Given the description of an element on the screen output the (x, y) to click on. 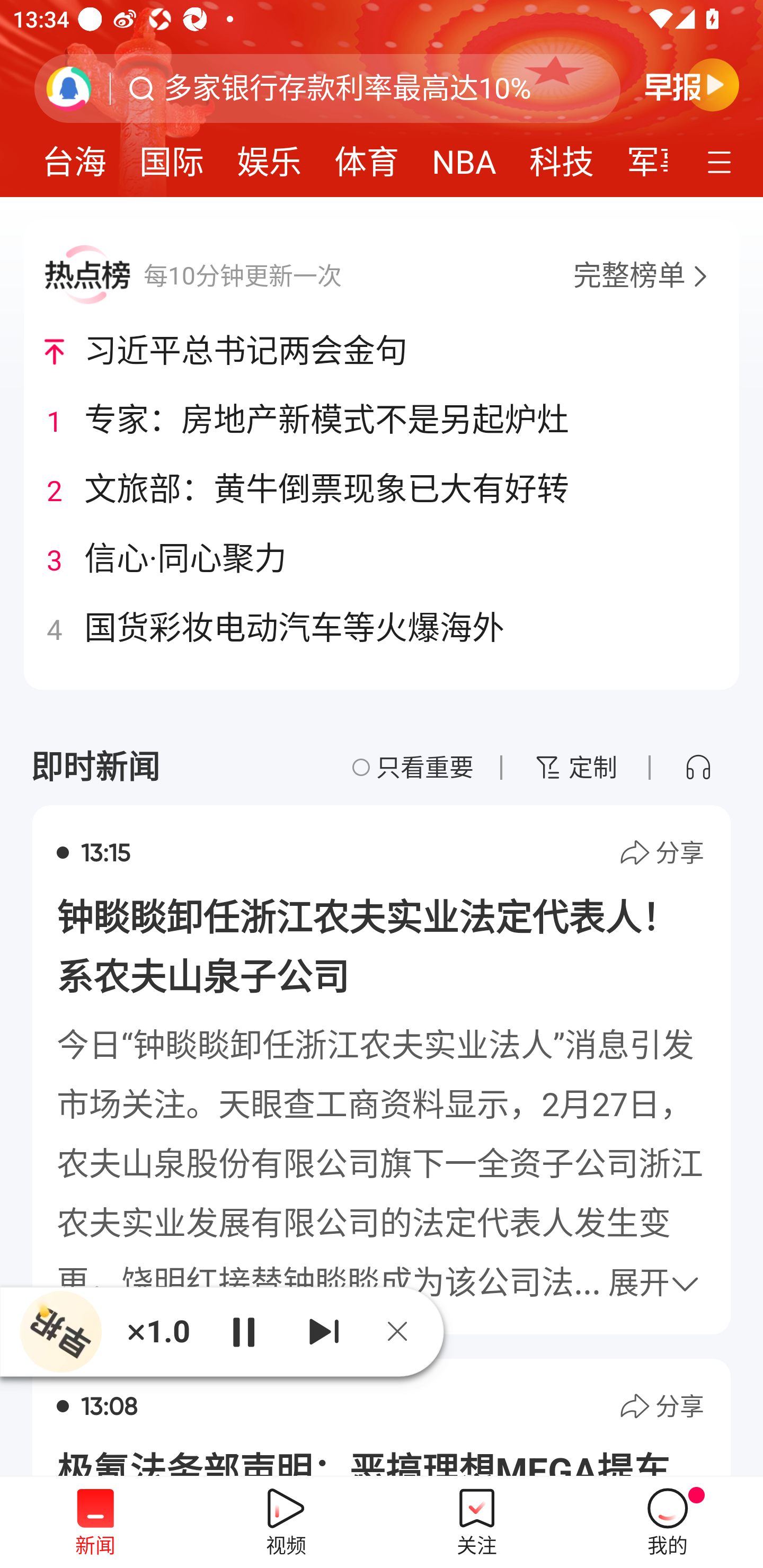
早晚报 (691, 84)
刷新 (68, 88)
多家银行存款利率最高达10% (347, 88)
台海 (73, 155)
国际 (171, 155)
娱乐 (269, 155)
体育 (366, 155)
NBA (463, 155)
科技 (561, 155)
 定制频道 (721, 160)
 (698, 767)
 定制 (575, 767)
只看重要 (412, 767)
 分享 (661, 852)
播放器 (60, 1331)
 播放 (242, 1330)
 下一个 (323, 1330)
 关闭 (404, 1330)
 1.0 (157, 1330)
 分享 (661, 1406)
